Given the description of an element on the screen output the (x, y) to click on. 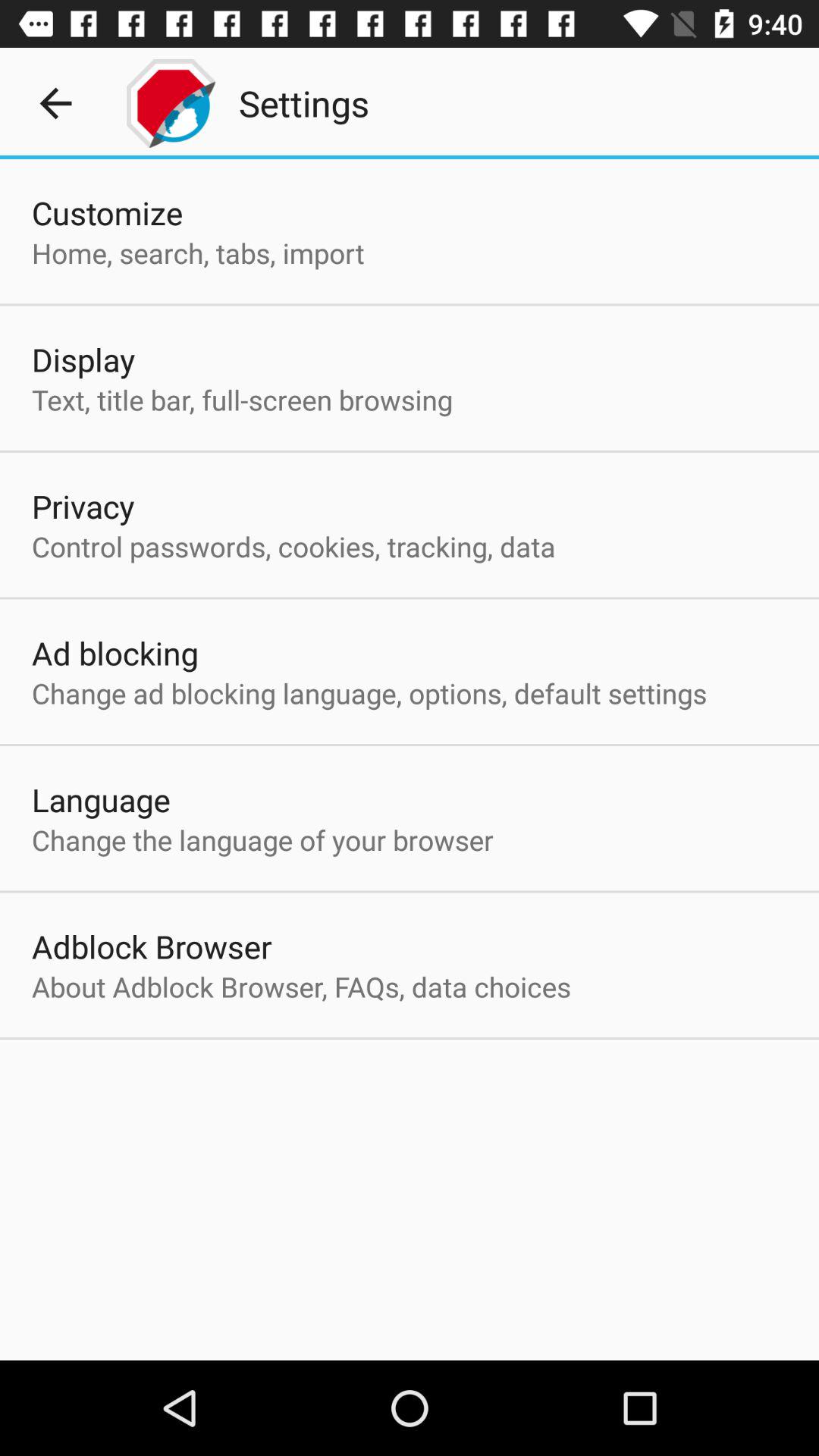
tap the icon above control passwords cookies icon (82, 505)
